Given the description of an element on the screen output the (x, y) to click on. 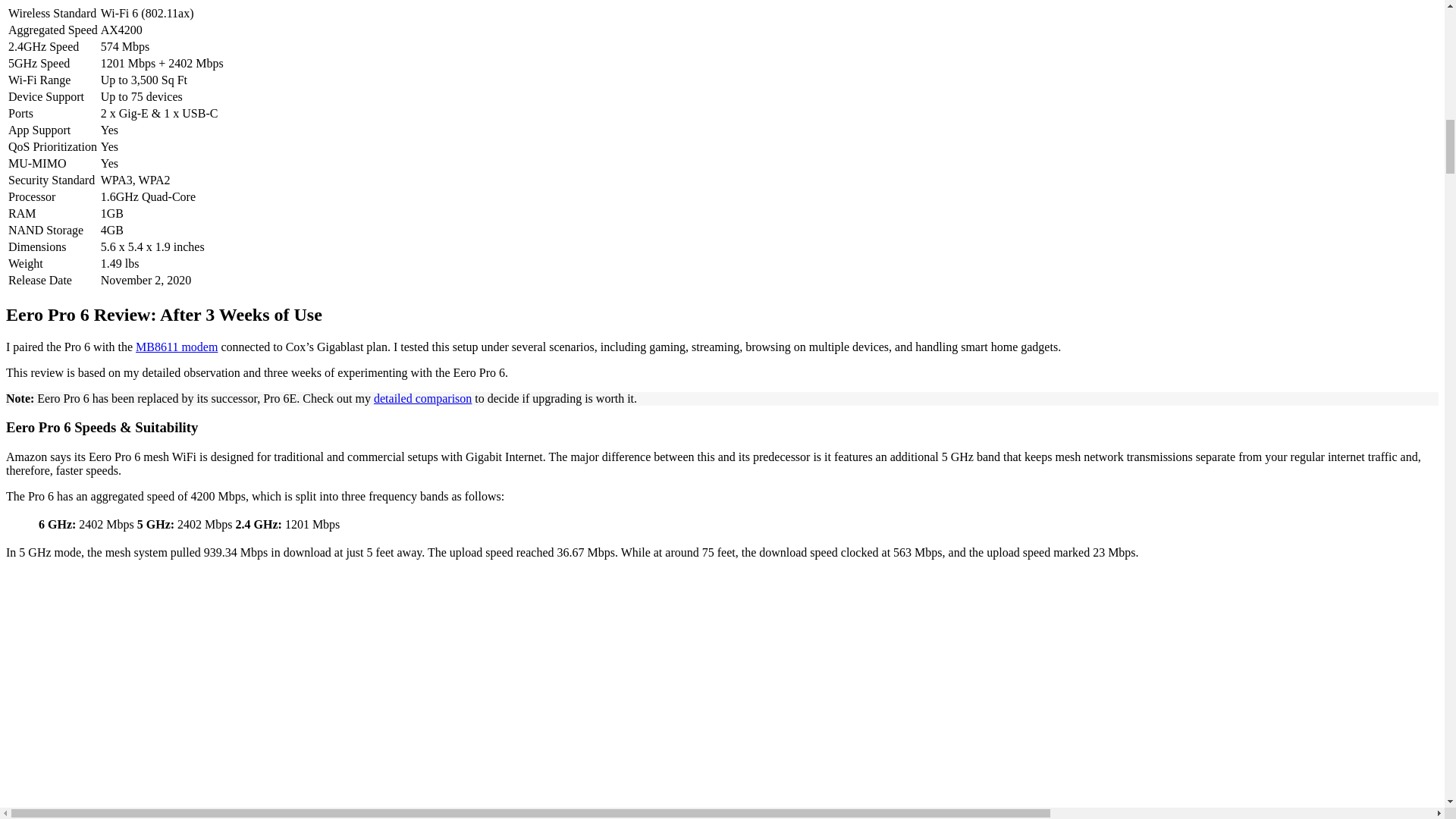
detailed comparison (422, 397)
MB8611 modem (175, 345)
